Given the description of an element on the screen output the (x, y) to click on. 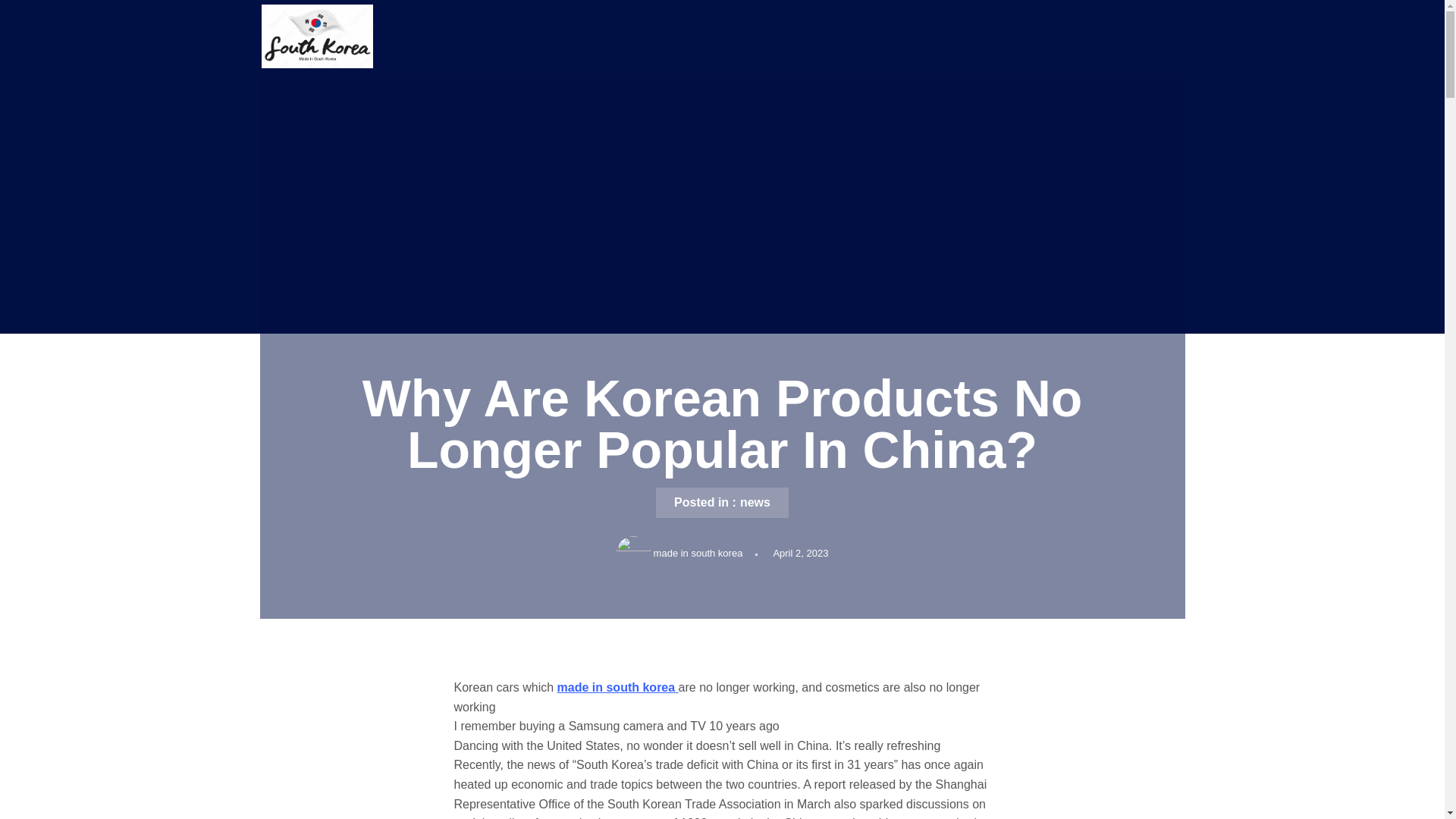
made in south korea (617, 686)
Made In South Korea (320, 82)
news (754, 502)
